Given the description of an element on the screen output the (x, y) to click on. 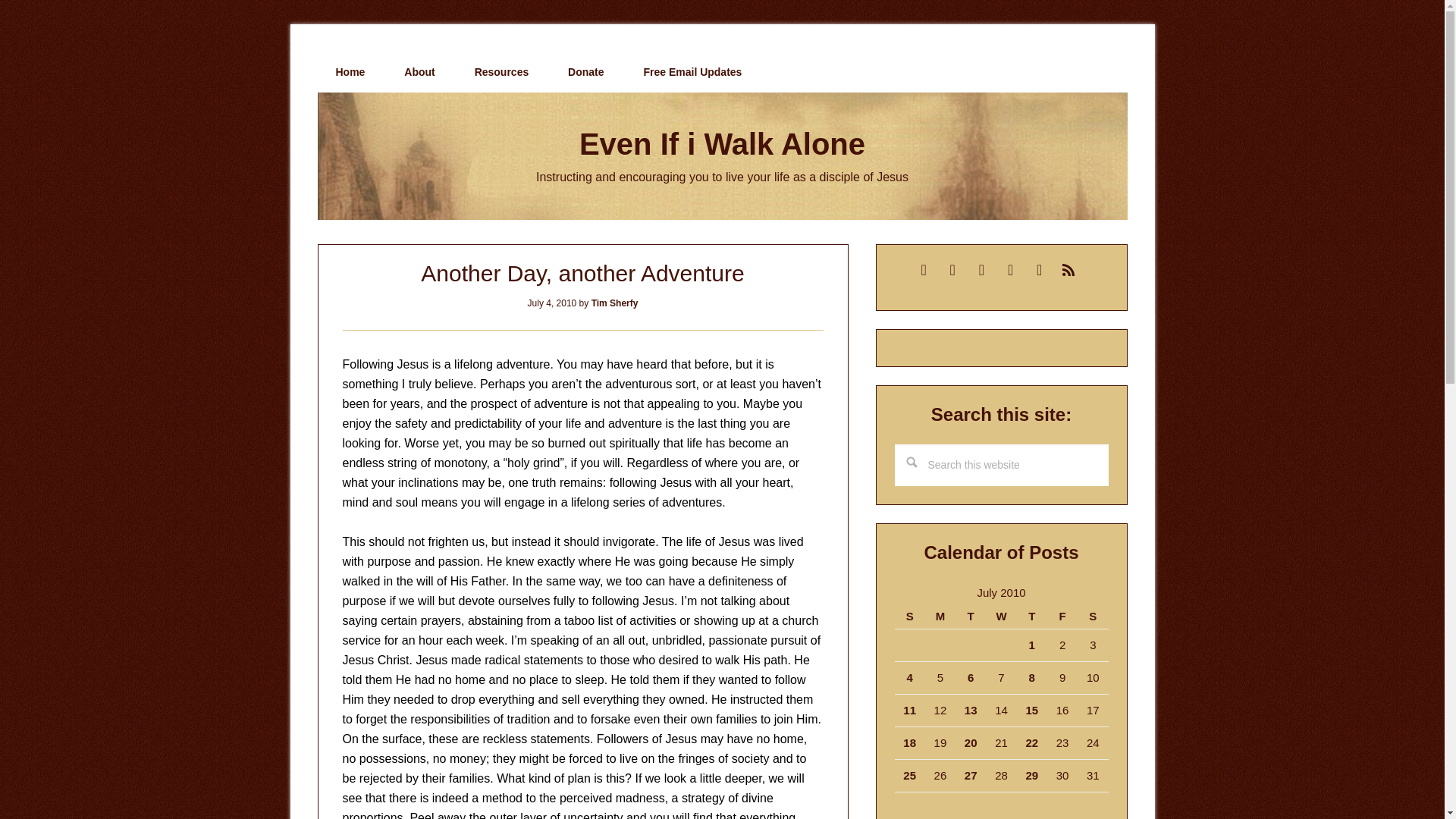
rss (1068, 268)
gab (952, 268)
About (418, 71)
Home (349, 71)
instagram (1039, 268)
Donate (585, 71)
Tim Sherfy (615, 303)
Resources (502, 71)
Free Email Updates (692, 71)
11 (908, 709)
